Given the description of an element on the screen output the (x, y) to click on. 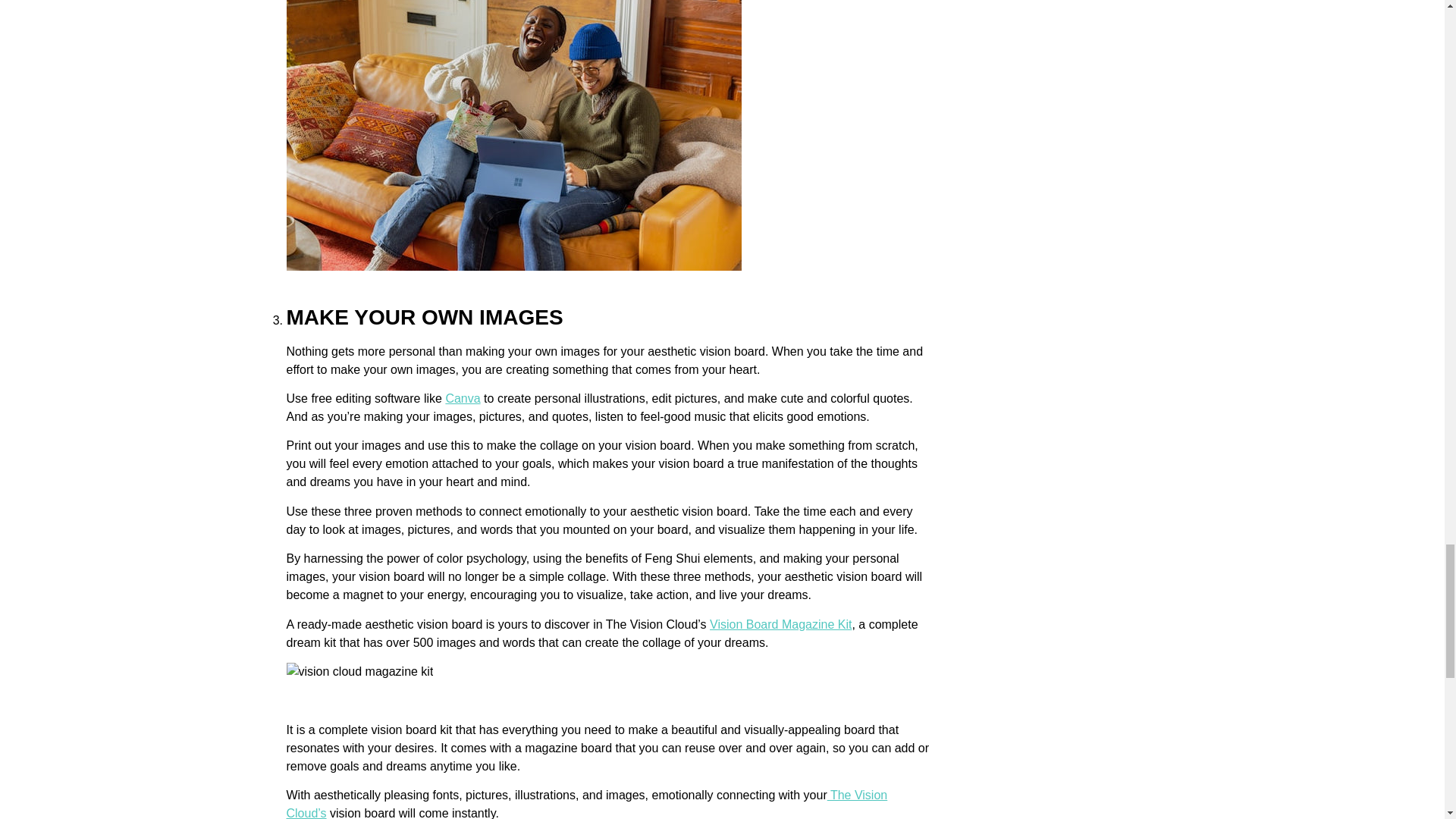
vision board ideas aesthetic (513, 266)
